Given the description of an element on the screen output the (x, y) to click on. 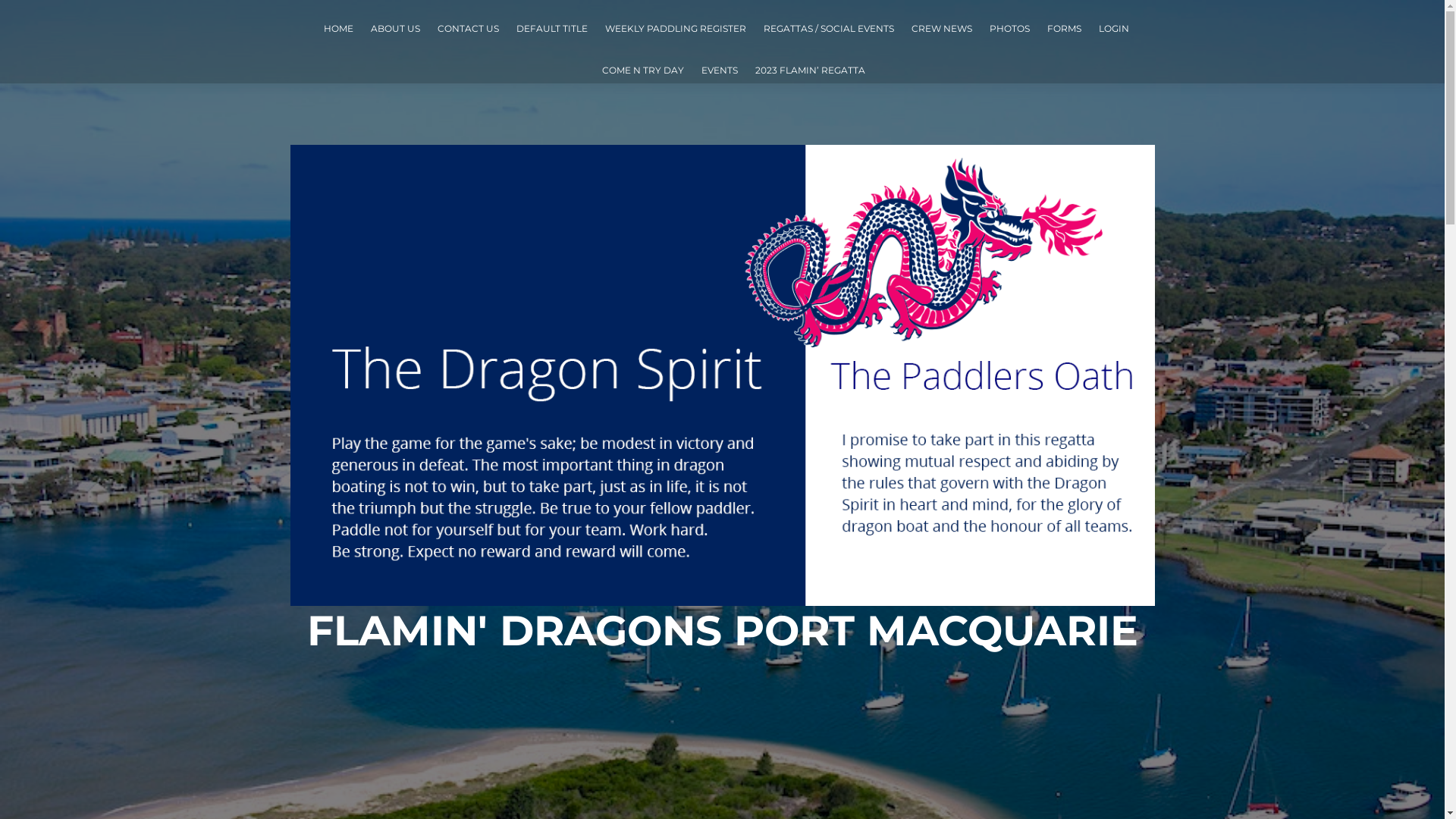
CREW NEWS Element type: text (941, 28)
DEFAULT TITLE Element type: text (550, 28)
LOGIN Element type: text (1113, 28)
PHOTOS Element type: text (1008, 28)
WEEKLY PADDLING REGISTER Element type: text (675, 28)
REGATTAS / SOCIAL EVENTS Element type: text (827, 28)
ABOUT US Element type: text (394, 28)
EVENTS Element type: text (719, 69)
HOME Element type: text (337, 28)
COME N TRY DAY Element type: text (643, 69)
CONTACT US Element type: text (467, 28)
FORMS Element type: text (1063, 28)
